Given the description of an element on the screen output the (x, y) to click on. 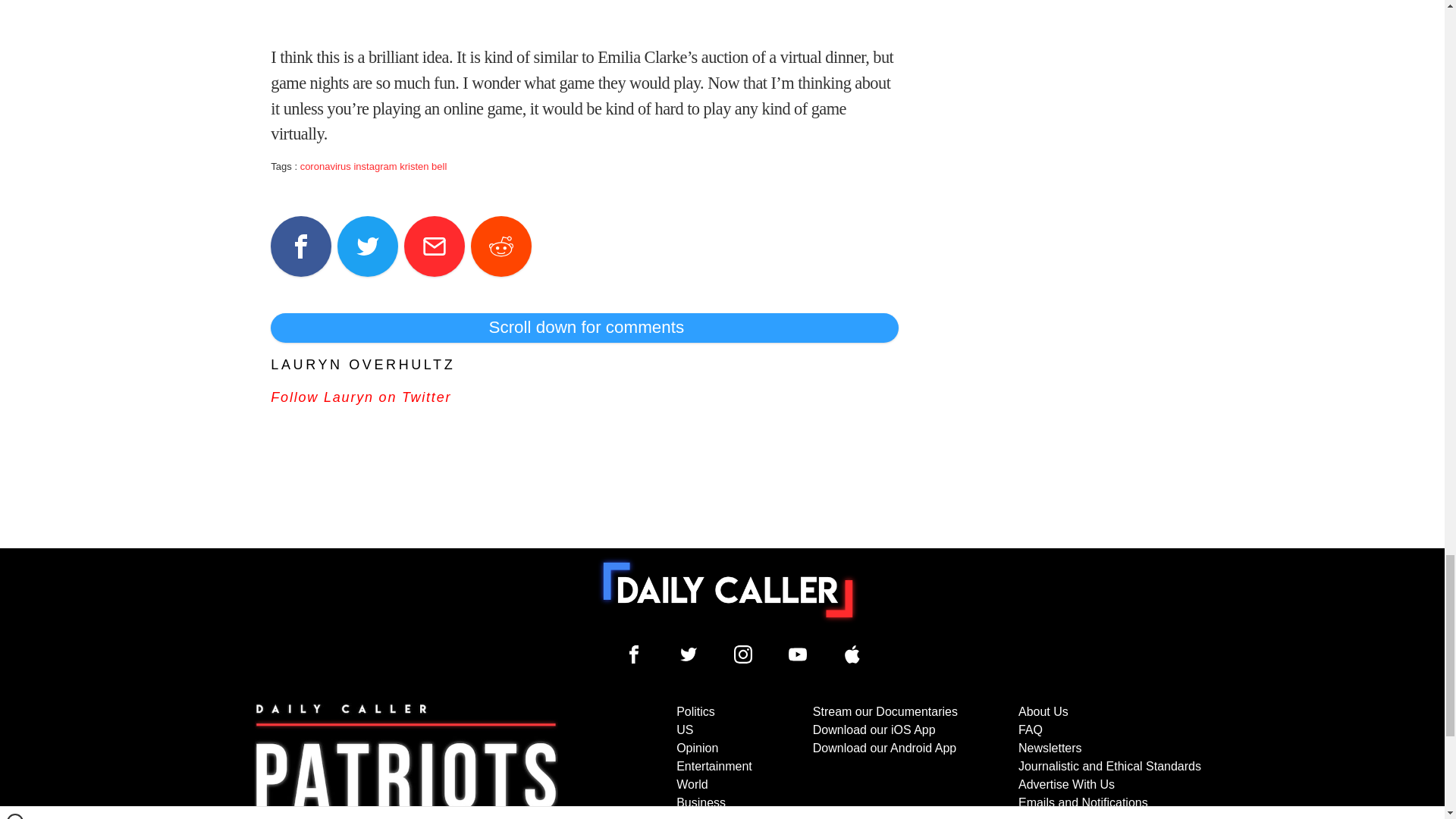
Subscribe to The Daily Caller (405, 760)
Daily Caller Twitter (688, 654)
Daily Caller Instagram (742, 654)
To home page (727, 589)
Daily Caller Facebook (633, 654)
Daily Caller YouTube (852, 654)
Daily Caller YouTube (797, 654)
Scroll down for comments (584, 327)
